Given the description of an element on the screen output the (x, y) to click on. 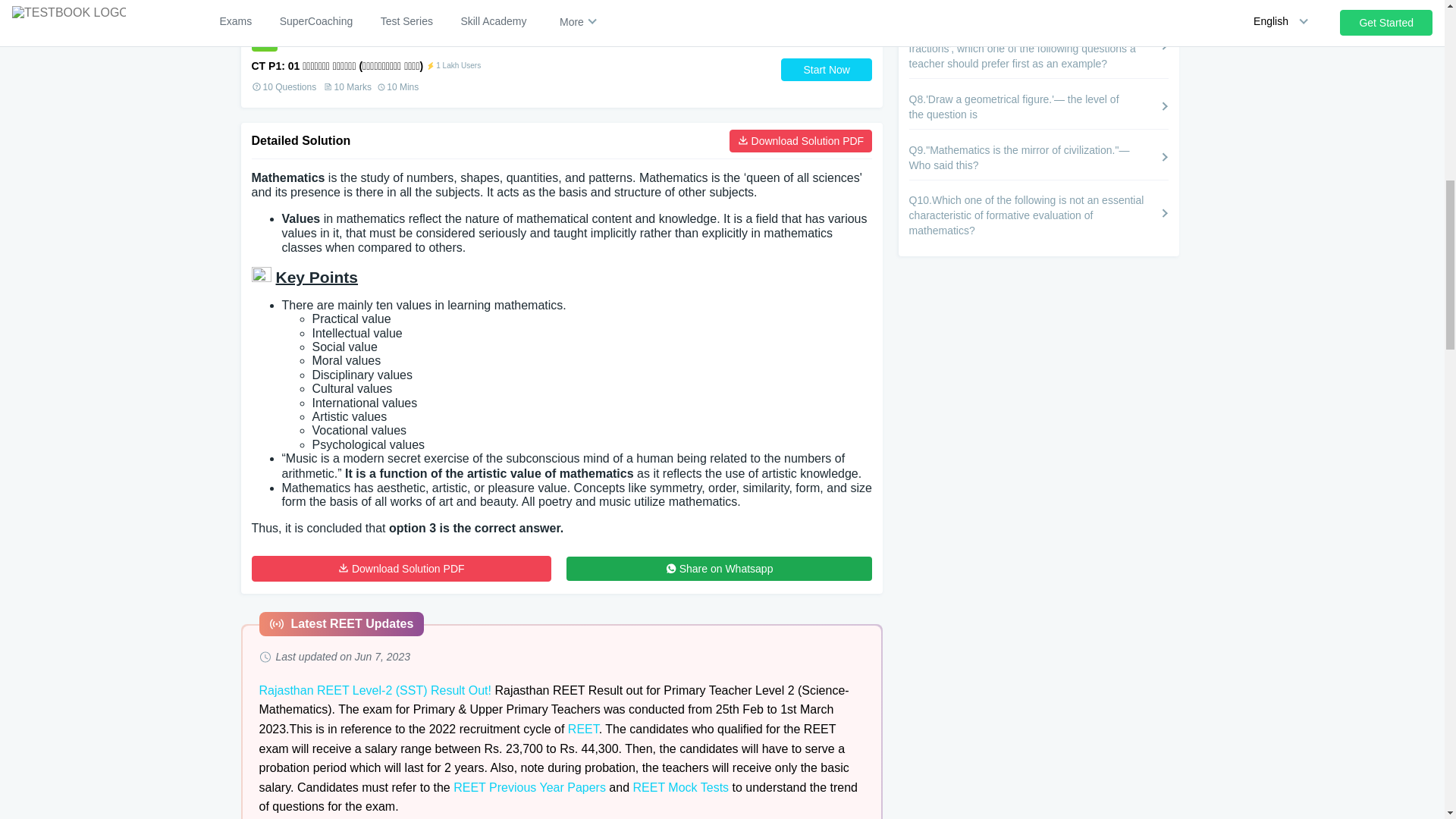
REET Previous Year Papers (528, 787)
Start Now (826, 69)
REET (582, 728)
Download Solution PDF (800, 140)
Share on Whatsapp (719, 568)
Download Solution PDF (401, 568)
REET Mock Tests (681, 787)
